Given the description of an element on the screen output the (x, y) to click on. 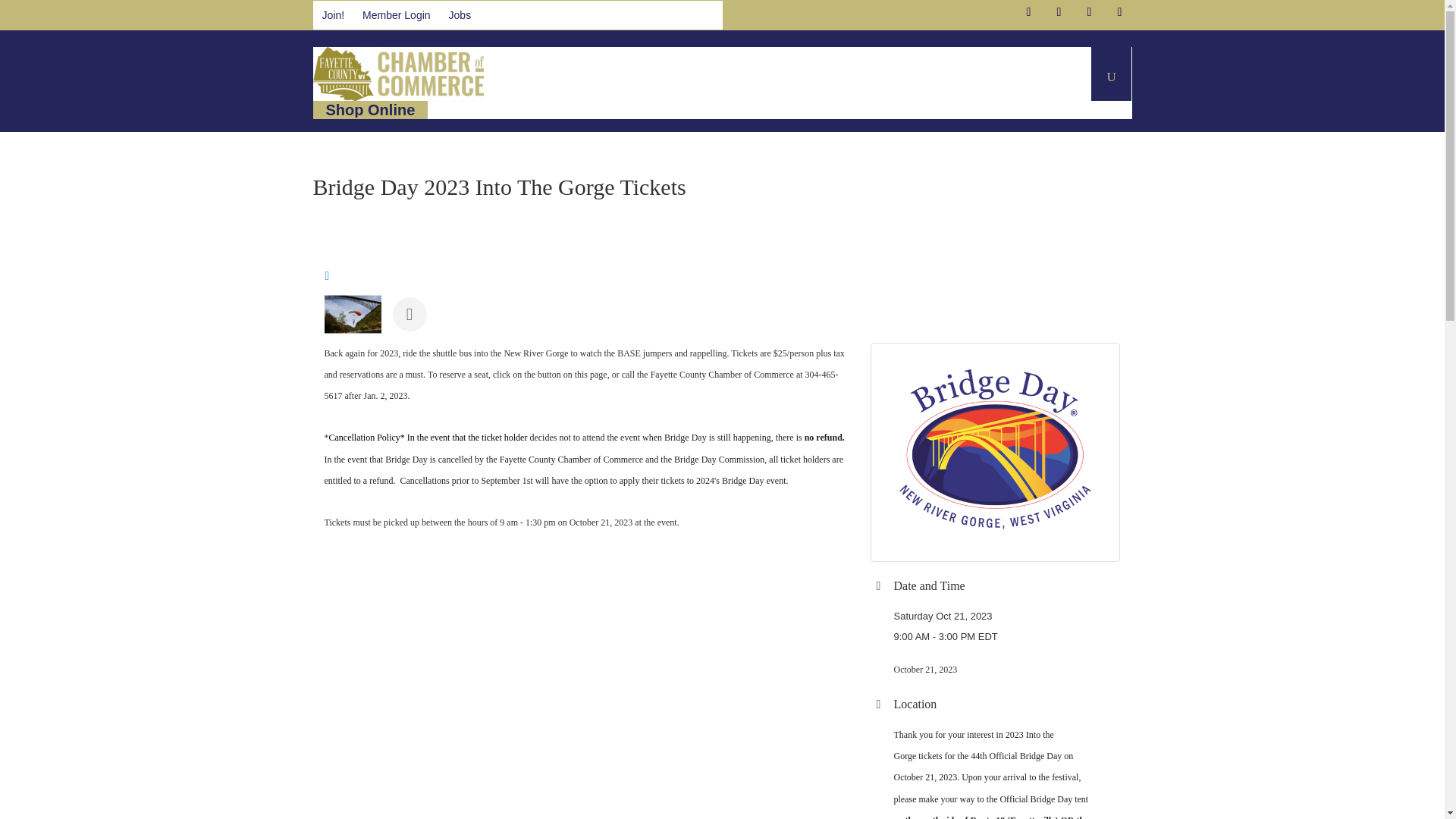
Member Login (396, 14)
Pinterest (1088, 12)
Join! (333, 14)
Business (715, 73)
Jobs (459, 14)
Follow on X (1058, 12)
Follow on Pinterest (1088, 12)
Events (641, 73)
Follow on Facebook (1028, 12)
Facebook (1028, 12)
Follow on Youtube (1118, 12)
Twitter (1058, 12)
Residents (797, 73)
YouTube (1118, 12)
